Given the description of an element on the screen output the (x, y) to click on. 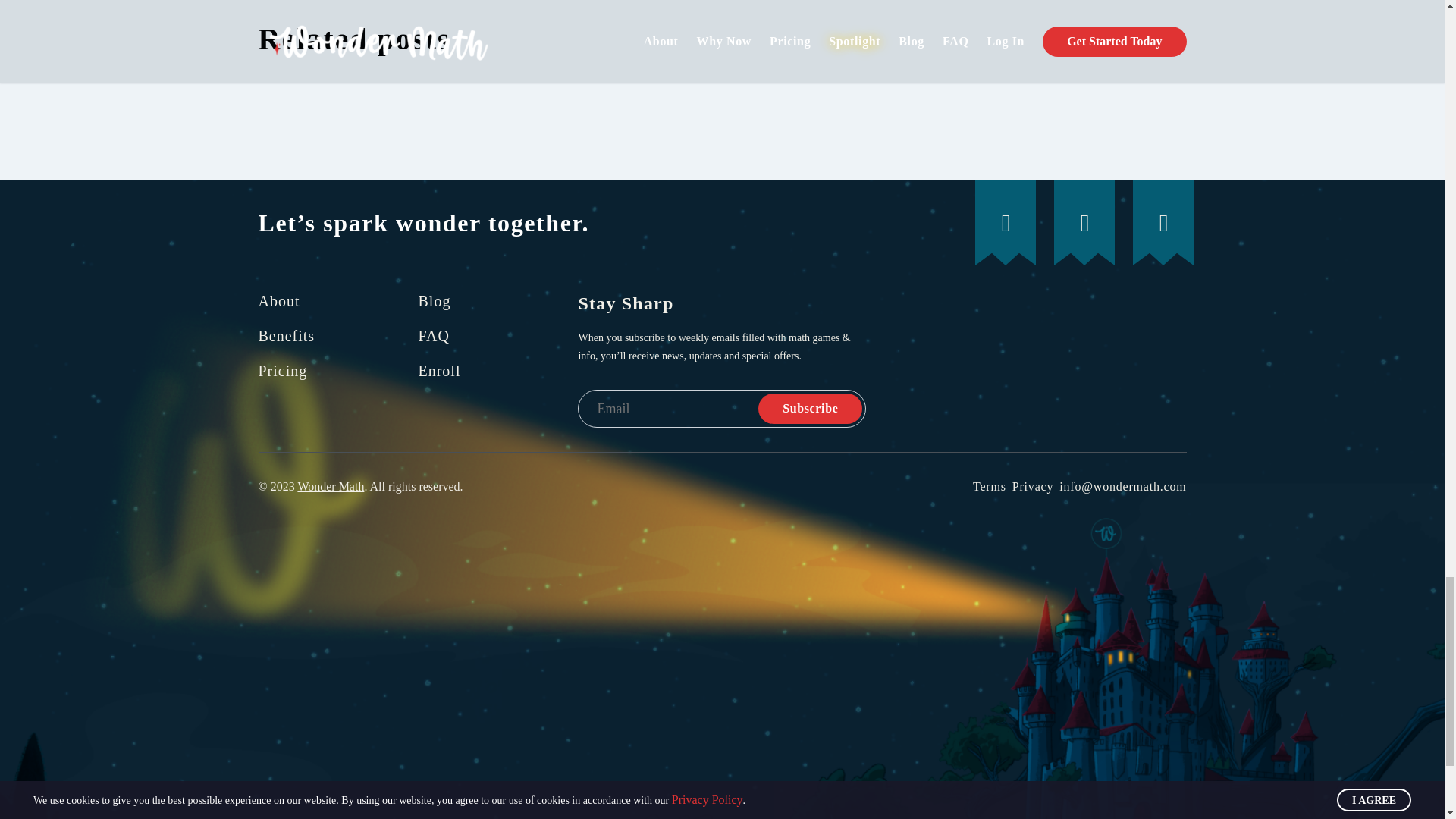
Subscribe (809, 408)
